Given the description of an element on the screen output the (x, y) to click on. 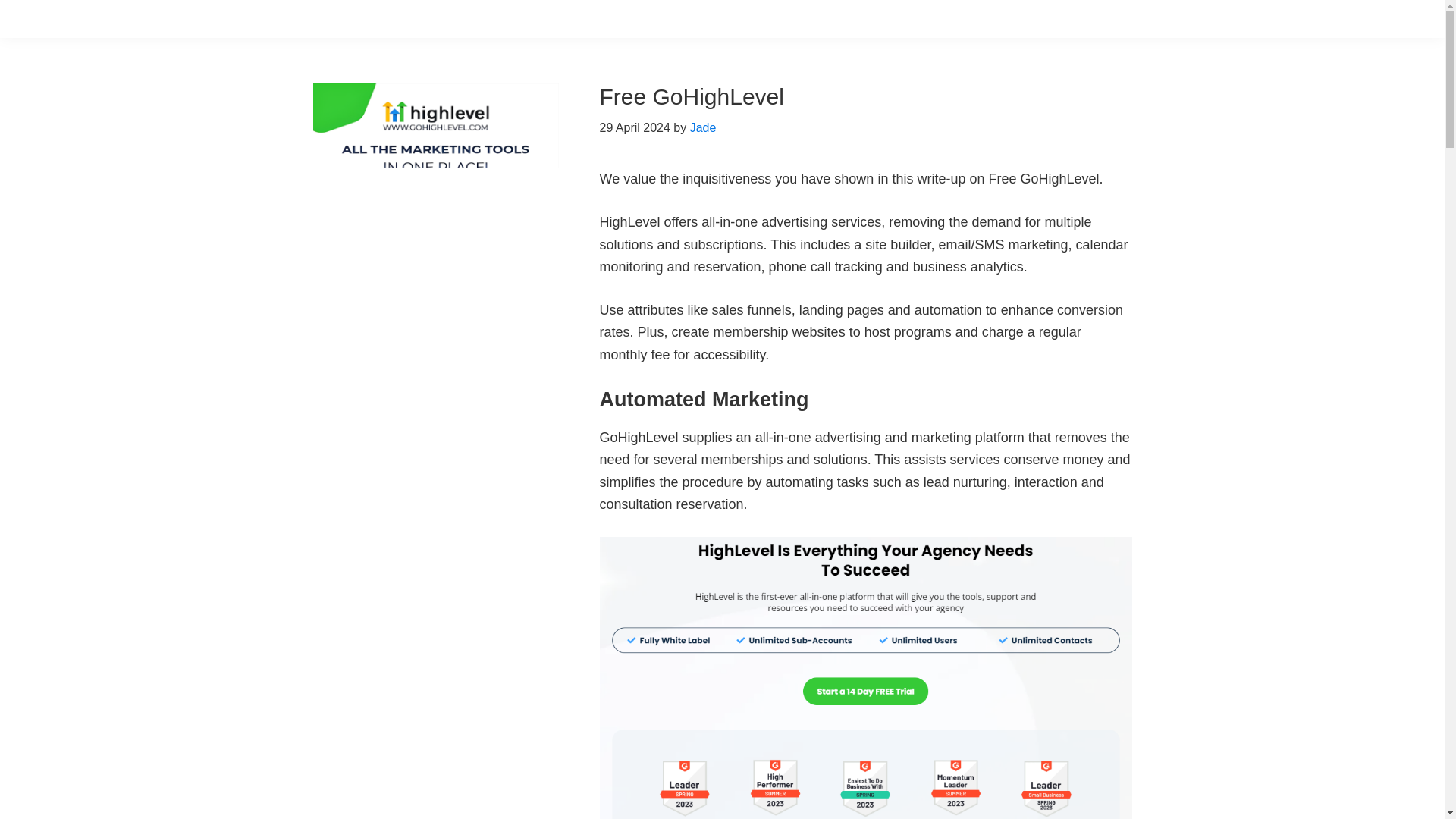
Jade (703, 127)
